Given the description of an element on the screen output the (x, y) to click on. 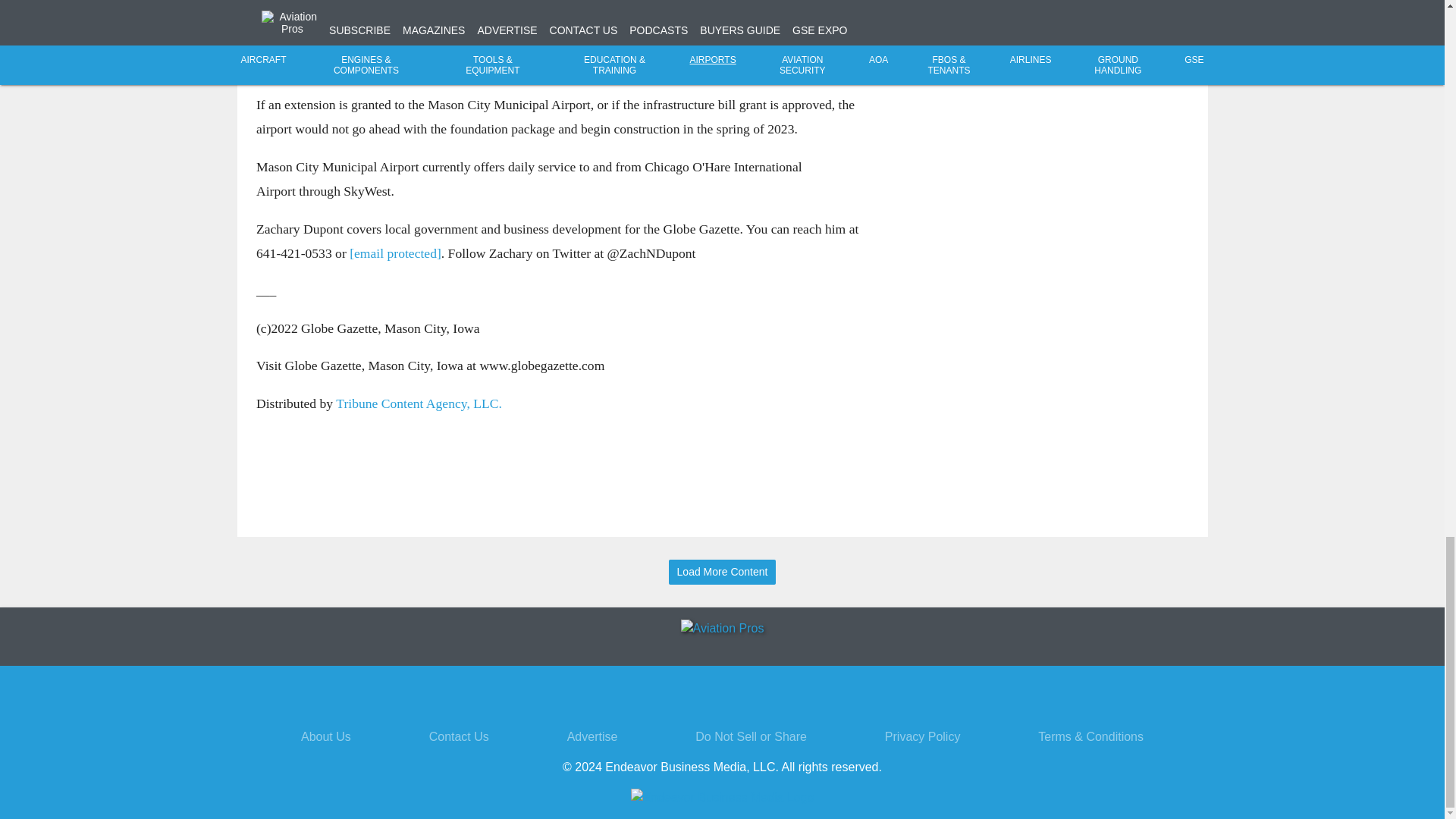
Tribune Content Agency, LLC. (419, 403)
